Given the description of an element on the screen output the (x, y) to click on. 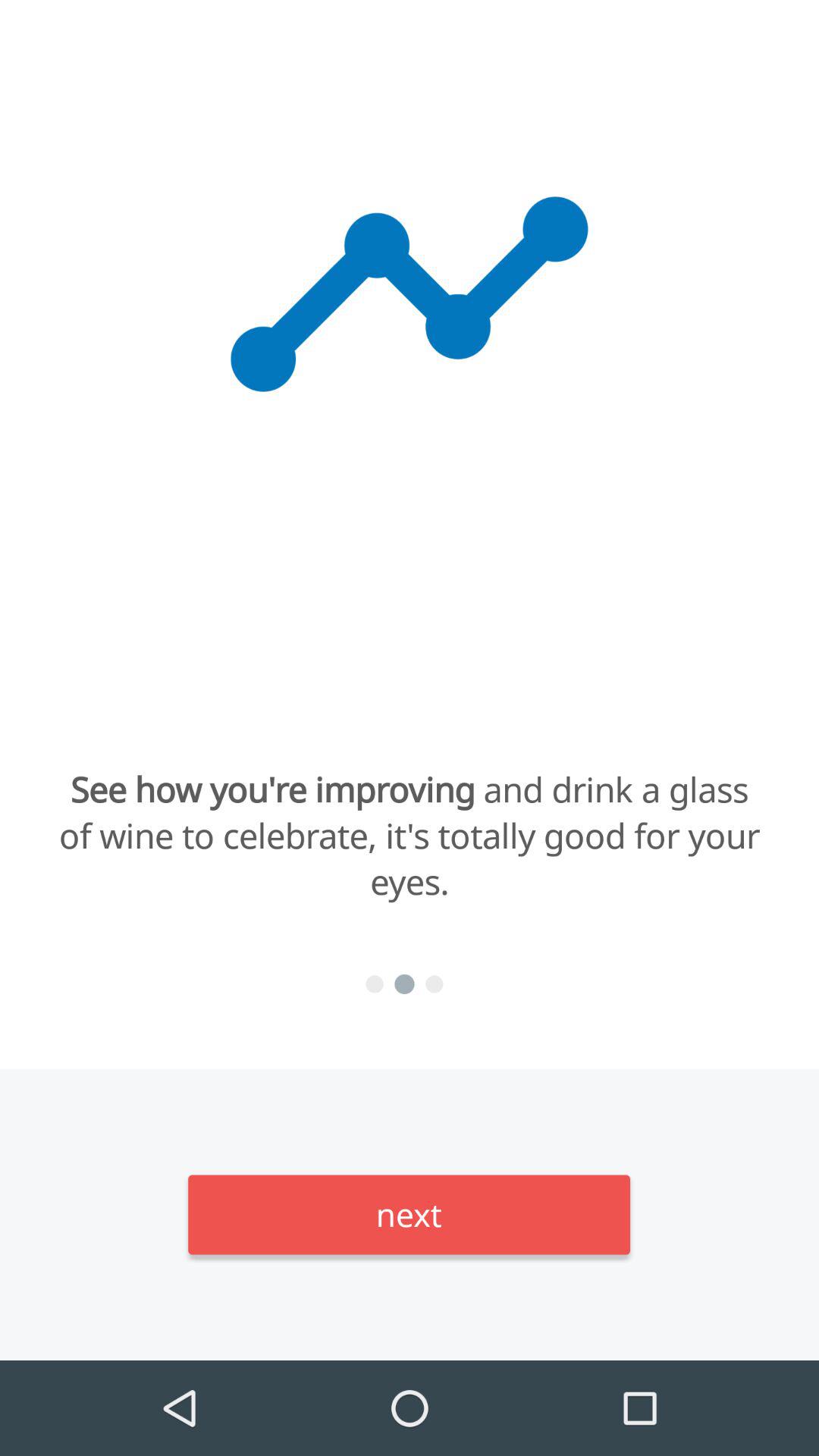
jump until the next (409, 1214)
